Given the description of an element on the screen output the (x, y) to click on. 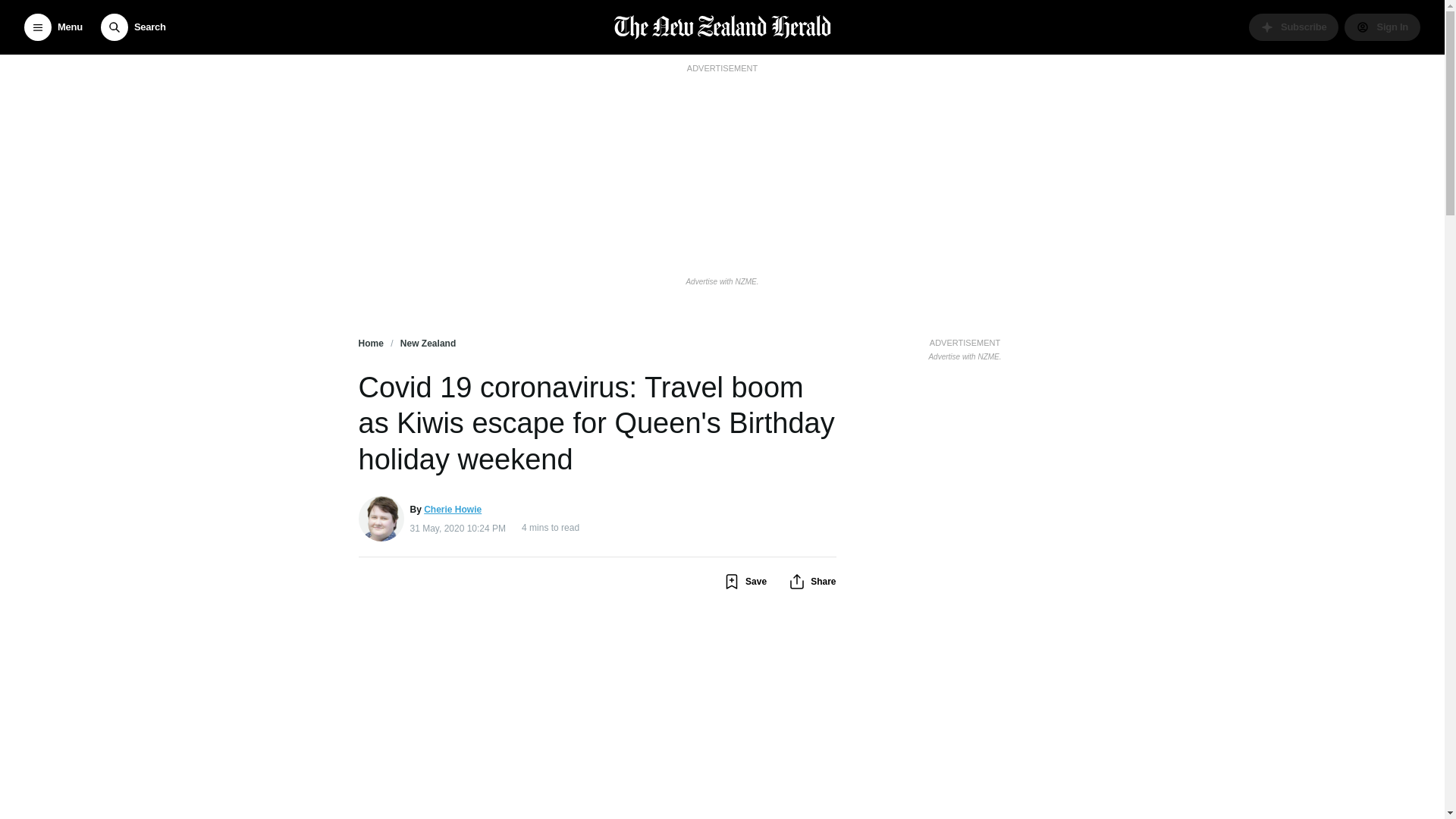
Subscribe (1294, 26)
Search (132, 26)
Sign In (1382, 26)
Manage your account (1382, 26)
Menu (53, 26)
